Given the description of an element on the screen output the (x, y) to click on. 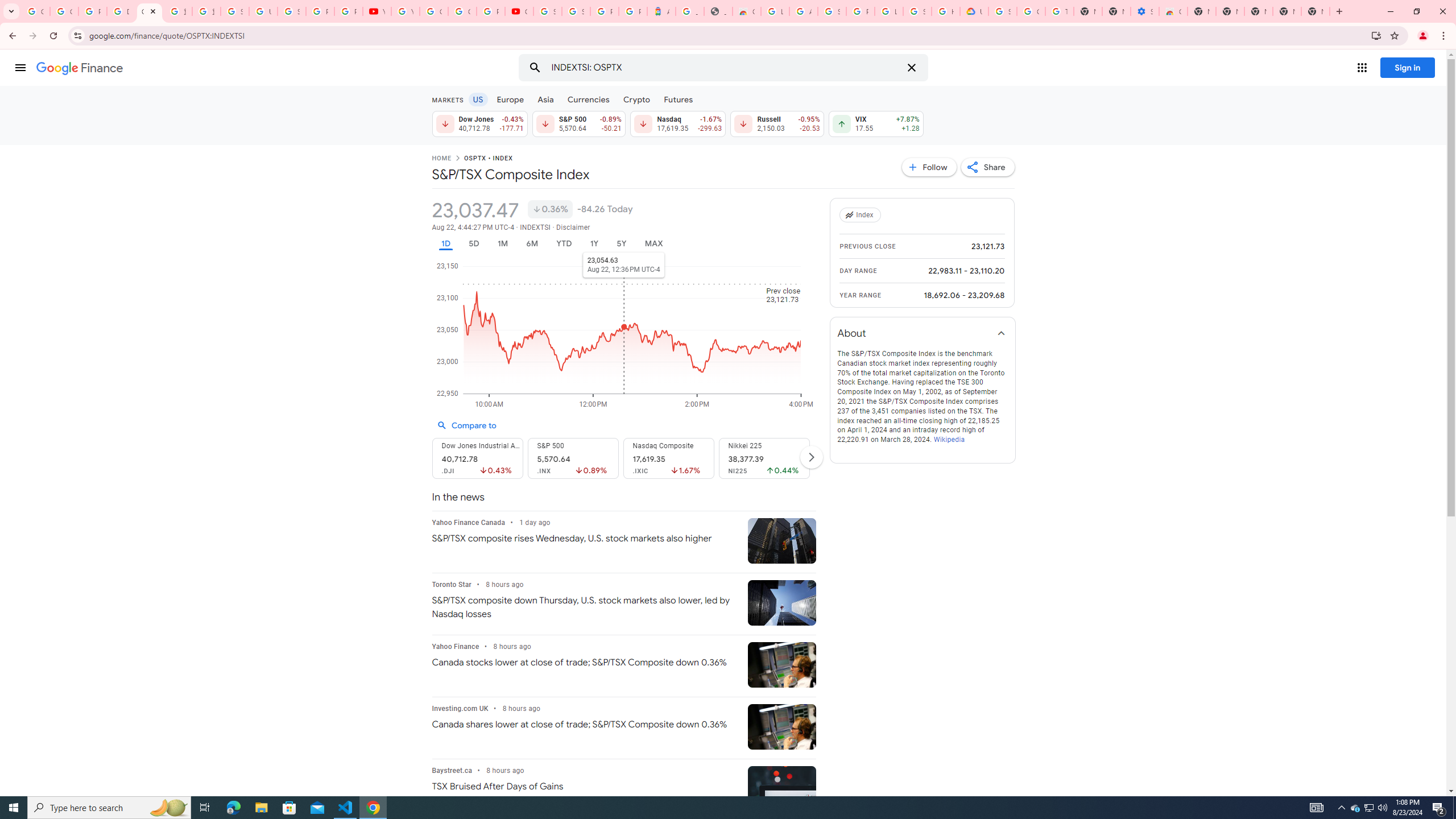
MAX (653, 243)
Index (861, 214)
US (477, 99)
Wikipedia (949, 439)
Content Creator Programs & Opportunities - YouTube Creators (518, 11)
Sign in - Google Accounts (917, 11)
Turn cookies on or off - Computer - Google Account Help (1058, 11)
5D (473, 243)
